Given the description of an element on the screen output the (x, y) to click on. 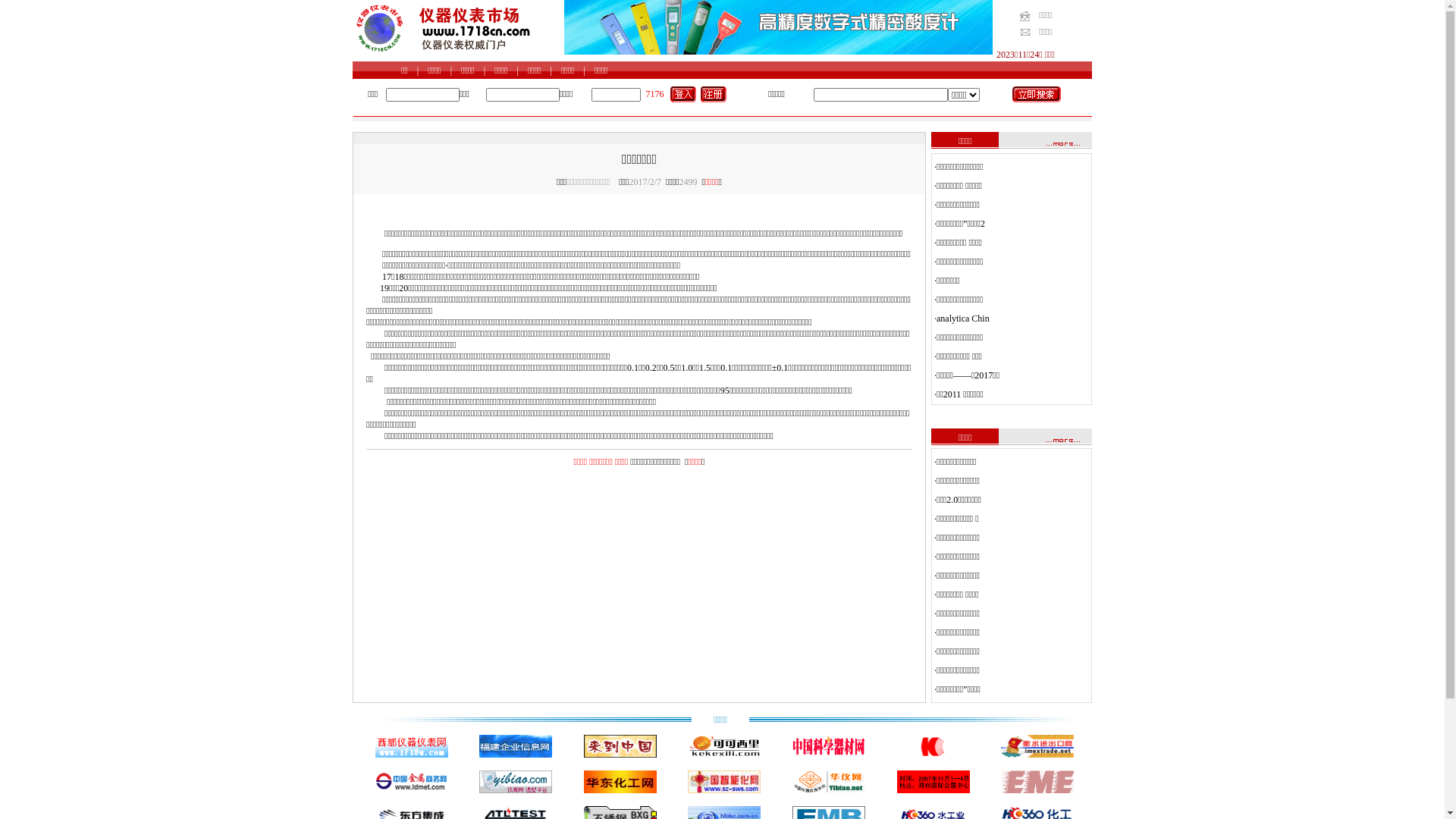
analytica Chin Element type: text (962, 318)
